Given the description of an element on the screen output the (x, y) to click on. 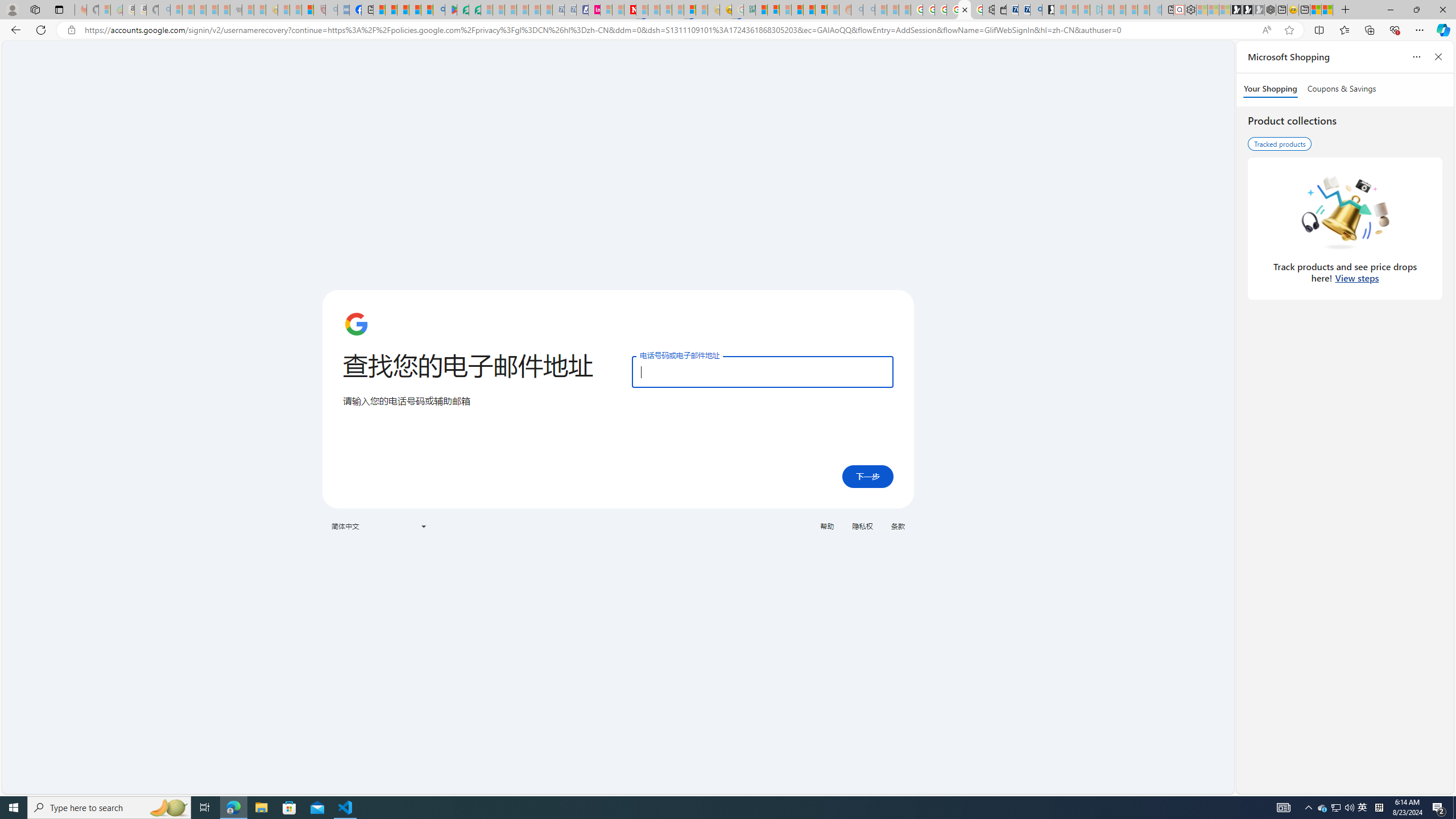
Pets - MSN (415, 9)
